Given the description of an element on the screen output the (x, y) to click on. 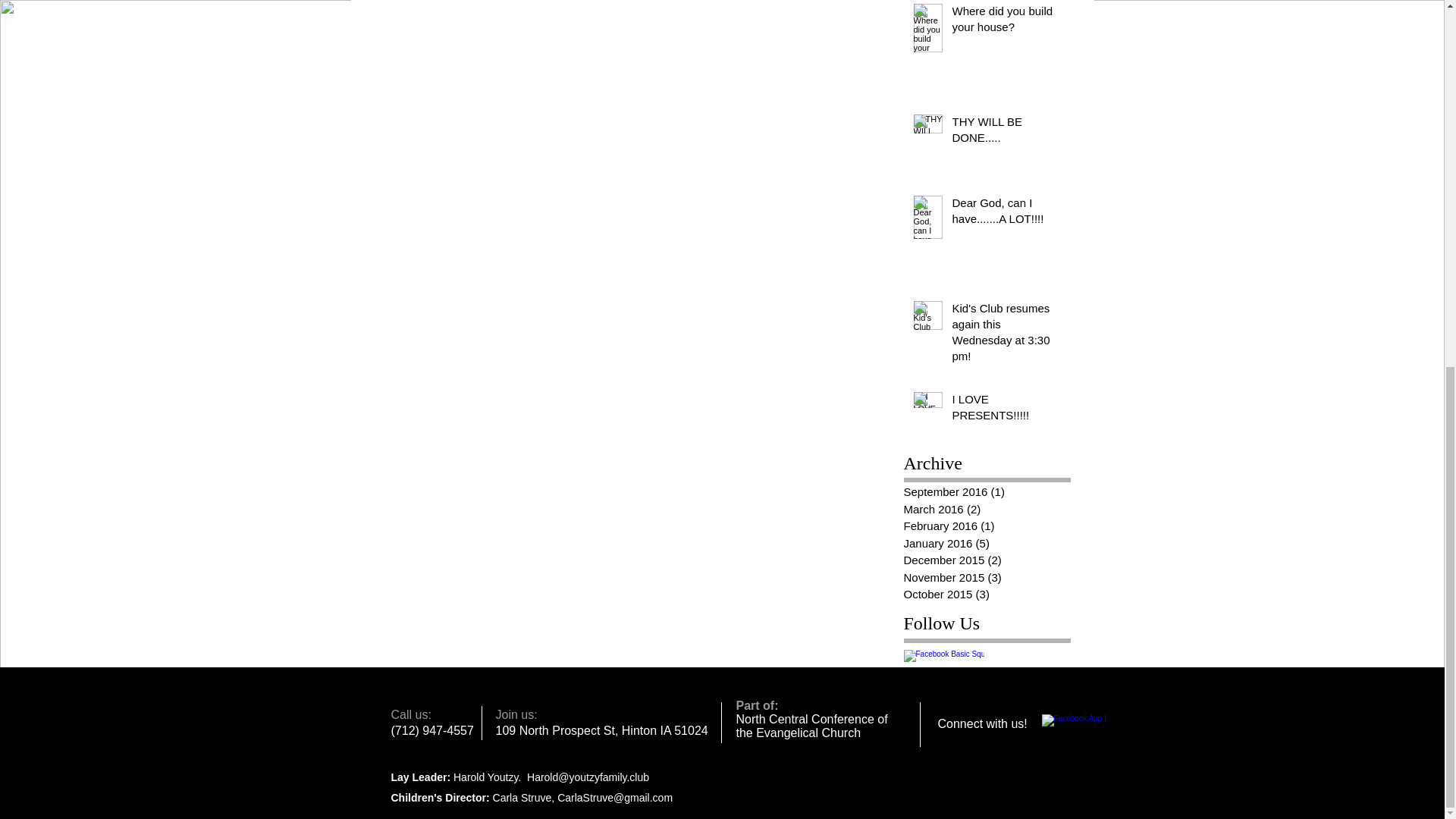
Kid's Club resumes again this Wednesday at 3:30 pm! (1006, 335)
Where did you build your house? (1006, 21)
I LOVE PRESENTS!!!!! (1006, 410)
THY WILL BE DONE..... (1006, 132)
Dear God, can I have.......A LOT!!!! (1006, 213)
North Central Conference of the Evangelical Church (810, 725)
